Given the description of an element on the screen output the (x, y) to click on. 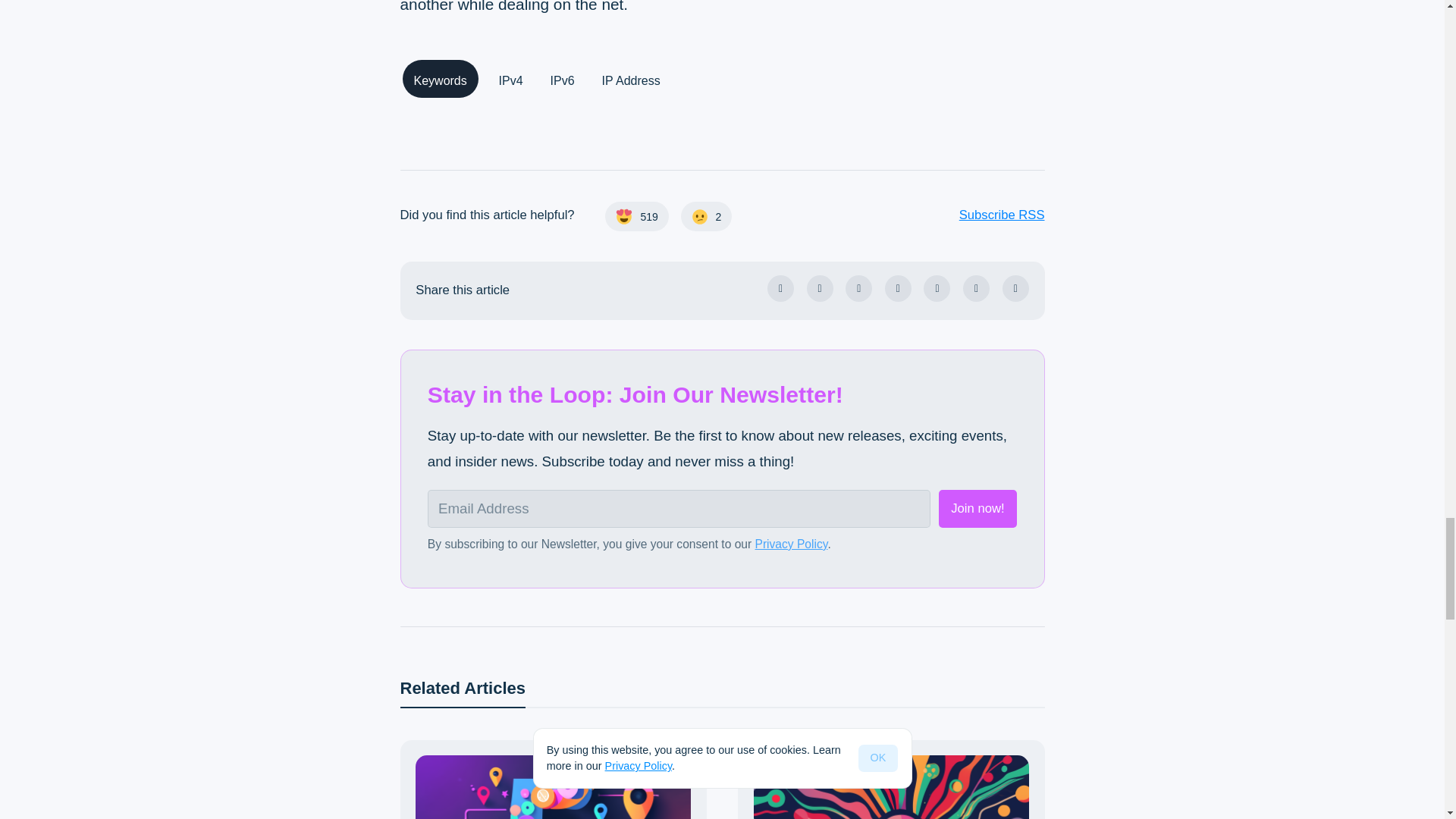
IP Address (631, 78)
IPv4 (510, 78)
Join now! (977, 508)
Subscribe RSS (897, 214)
IPv6 (562, 78)
